Given the description of an element on the screen output the (x, y) to click on. 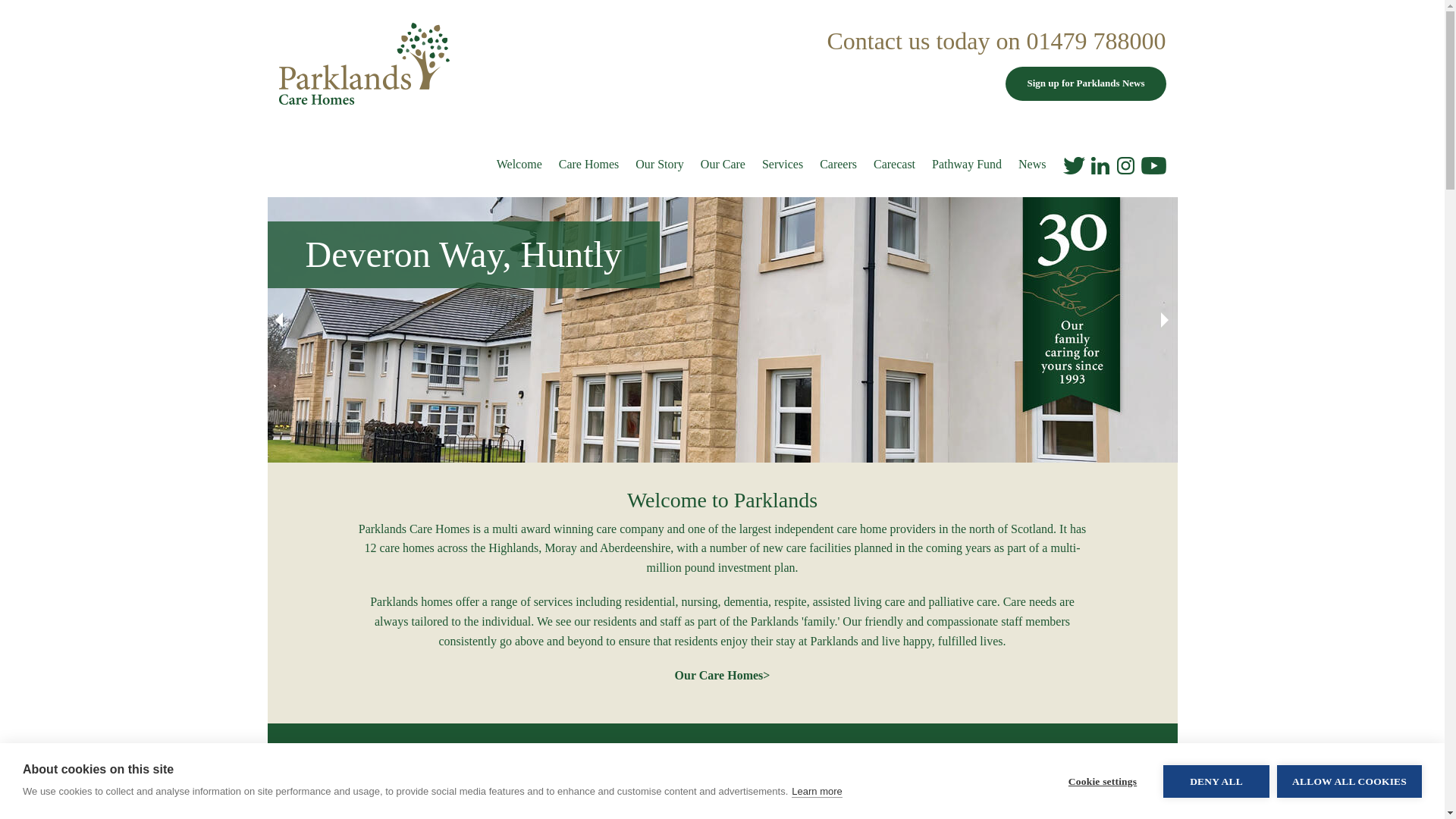
Careers (838, 164)
Our Story (659, 164)
Welcome (518, 164)
Careers (838, 164)
News (1031, 164)
Services (782, 164)
Care Homes (589, 164)
Pathway Fund (966, 164)
Sign up for Parklands News (1086, 83)
Pathway Fund (966, 164)
